Given the description of an element on the screen output the (x, y) to click on. 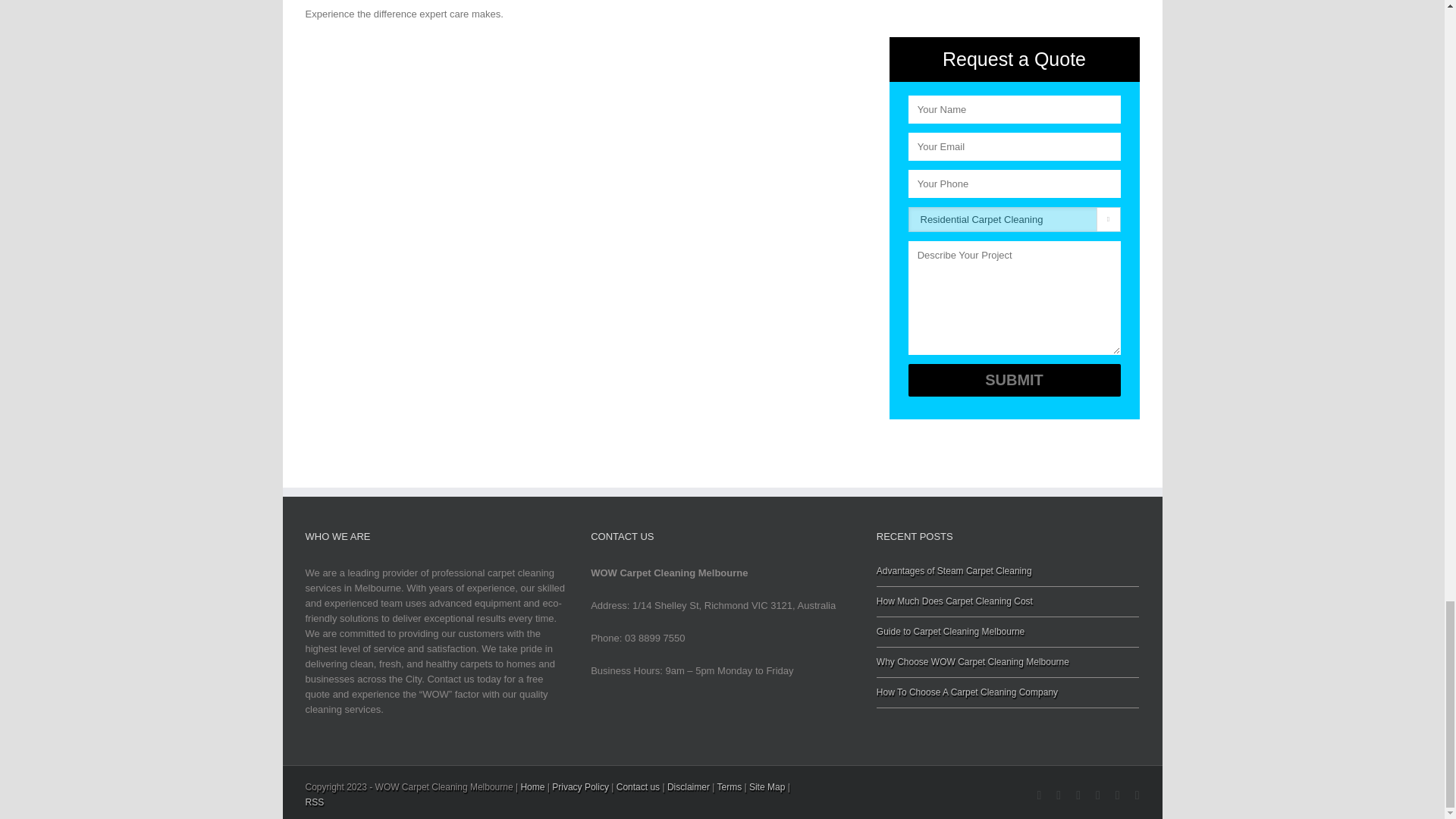
SUBMIT (1014, 379)
